Given the description of an element on the screen output the (x, y) to click on. 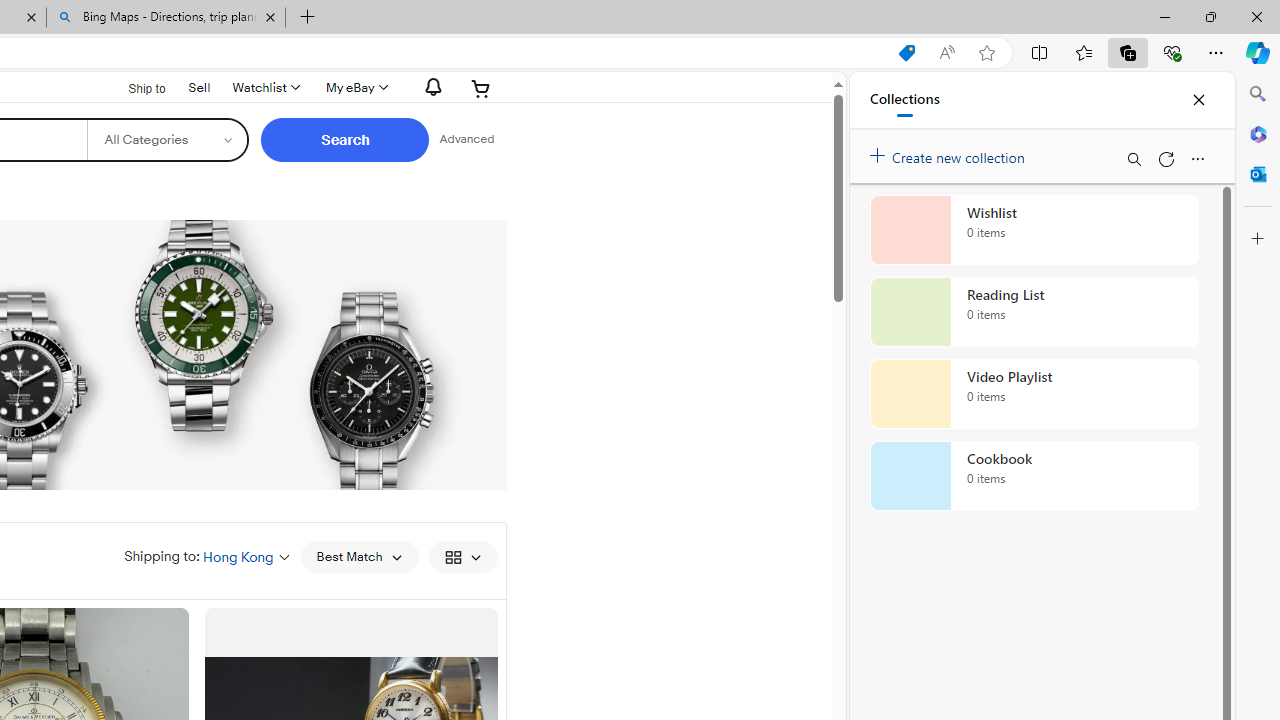
Create new collection (950, 153)
Cookbook collection, 0 items (1034, 475)
Wishlist collection, 0 items (1034, 229)
AutomationID: gh-eb-Alerts (430, 87)
WatchlistExpand Watch List (264, 88)
Your shopping cart (481, 88)
My eBayExpand My eBay (354, 88)
More options menu (1197, 158)
